Given the description of an element on the screen output the (x, y) to click on. 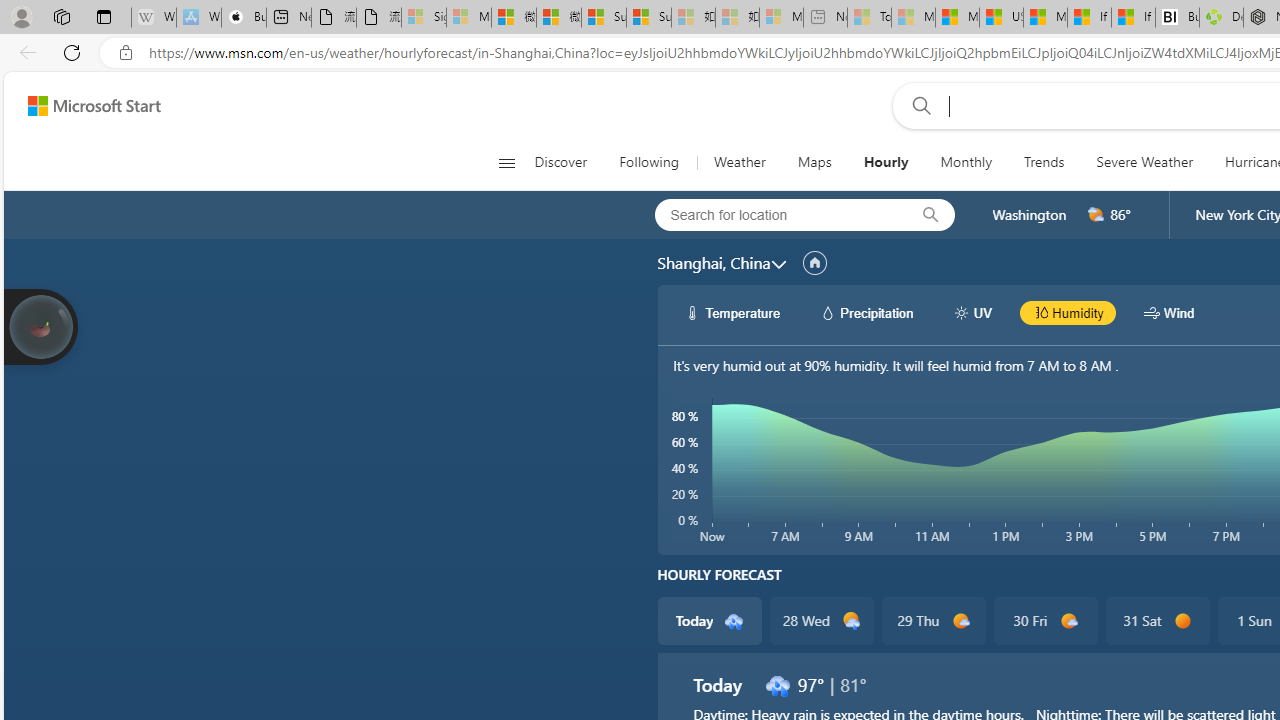
hourlyChart/windWhite (1152, 312)
locationBar/search (930, 215)
hourlyChart/uvWhite UV (972, 312)
Shanghai, China (713, 263)
hourlyChart/uvWhite (961, 312)
Today d4300 (708, 620)
Buy iPad - Apple (243, 17)
Top Stories - MSN - Sleeping (868, 17)
common/carouselChevron (778, 264)
